Given the description of an element on the screen output the (x, y) to click on. 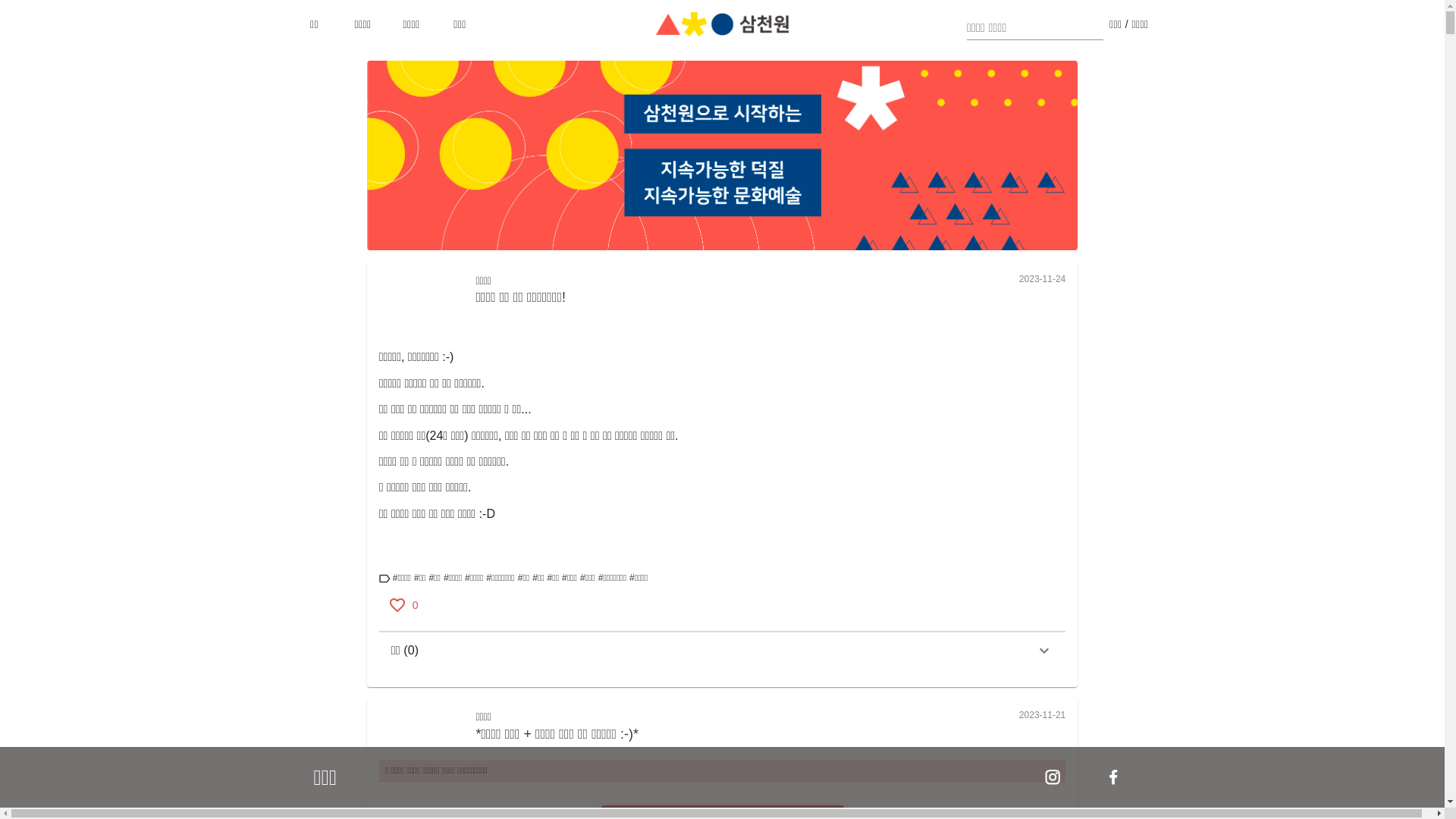
0 Element type: text (403, 605)
